Given the description of an element on the screen output the (x, y) to click on. 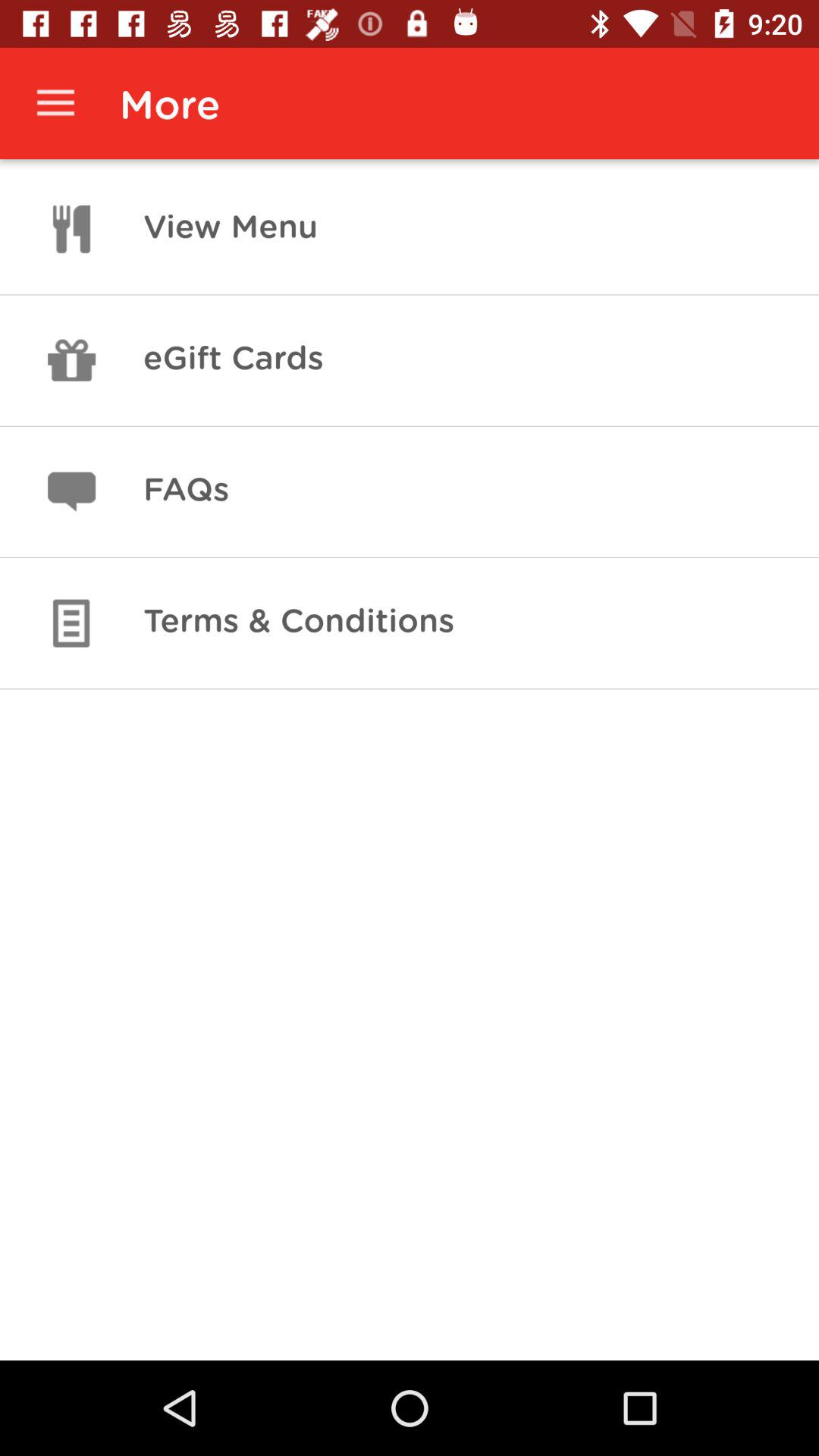
scroll until the terms & conditions item (298, 622)
